Given the description of an element on the screen output the (x, y) to click on. 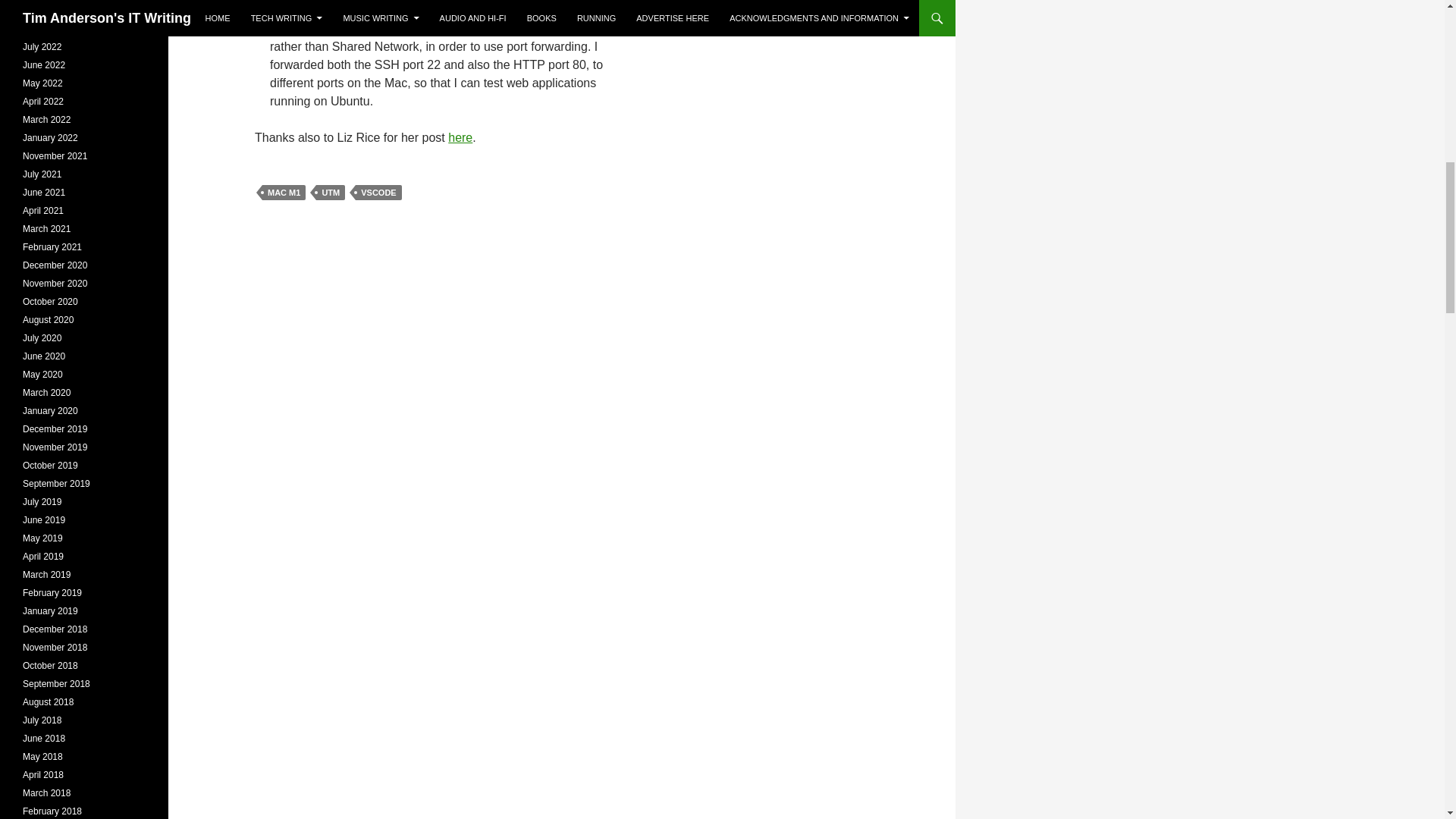
UTM (330, 192)
here (459, 137)
MAC M1 (283, 192)
VSCODE (378, 192)
